Given the description of an element on the screen output the (x, y) to click on. 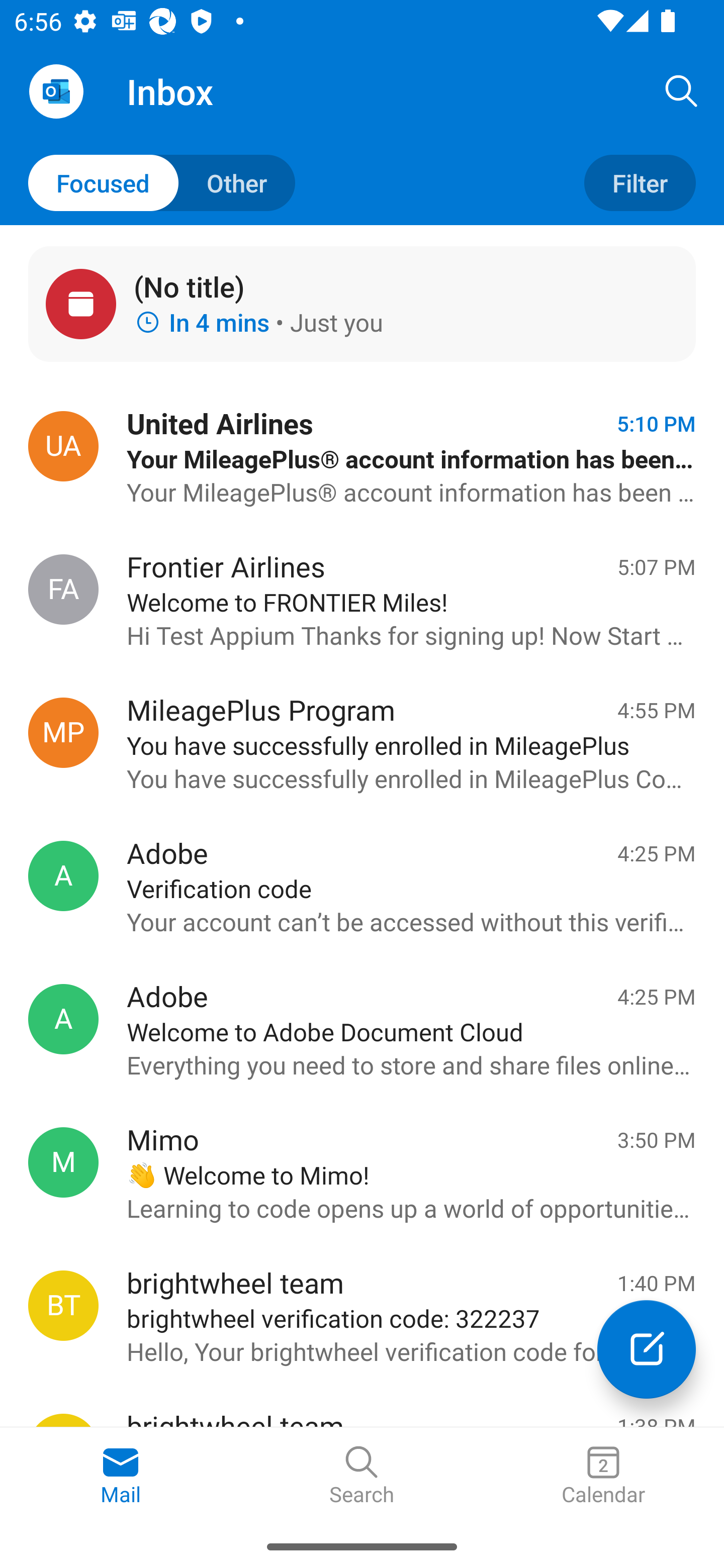
Search (681, 90)
Open Navigation Drawer (55, 91)
Toggle to other mails (161, 183)
Filter (639, 183)
(No title) In 4 mins • Just you (361, 304)
United Airlines, account-noreply@united.com (63, 445)
MileagePlus Program, account-noreply@united.com (63, 732)
Adobe, message@adobe.com (63, 875)
Adobe, message@adobe.com (63, 1018)
Mimo, support@getmimo.com (63, 1162)
brightwheel team, recovery@mybrightwheel.com (63, 1305)
Compose (646, 1348)
Search (361, 1475)
Calendar (603, 1475)
